Given the description of an element on the screen output the (x, y) to click on. 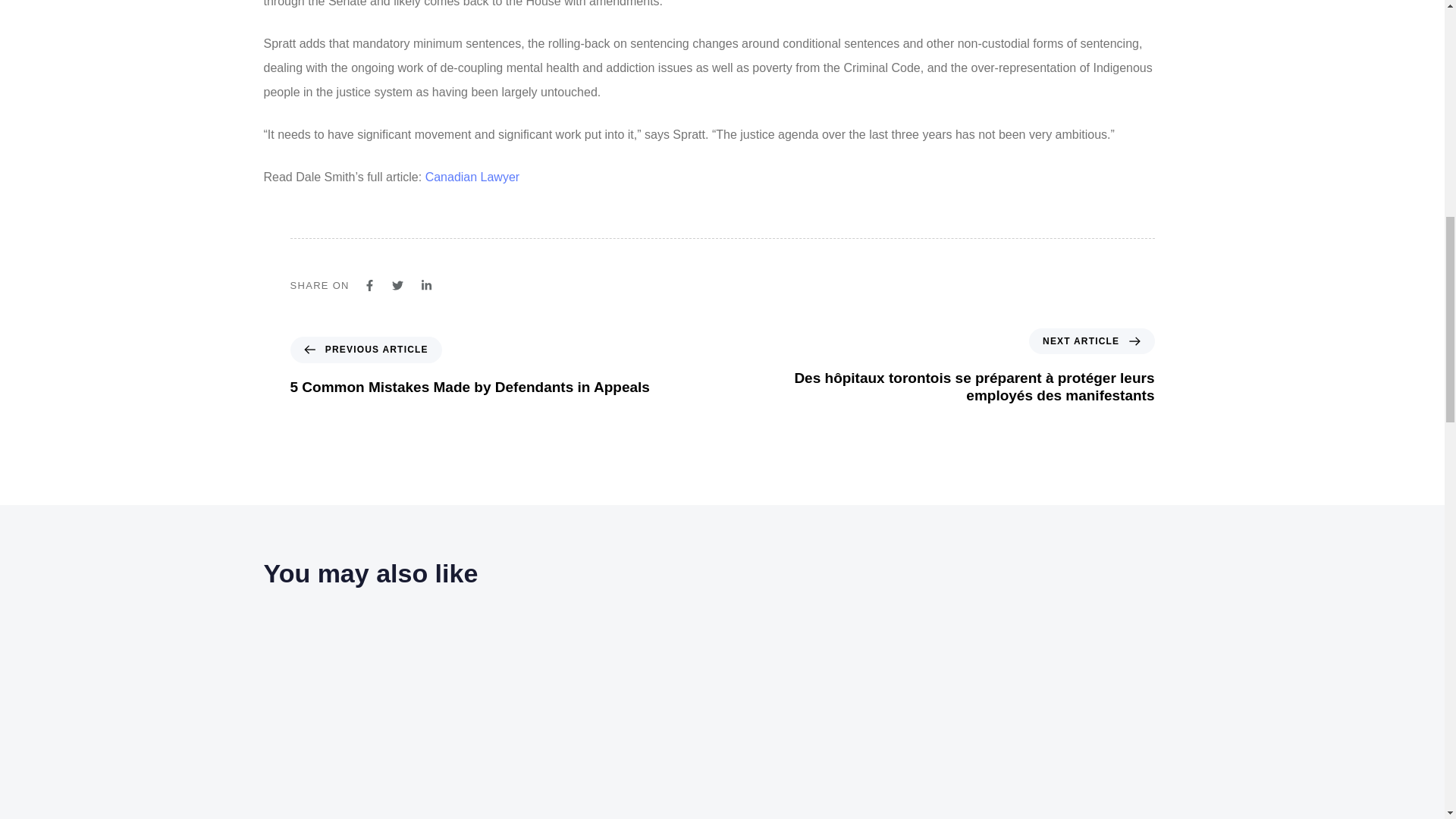
Canadian Lawyer (472, 176)
